Given the description of an element on the screen output the (x, y) to click on. 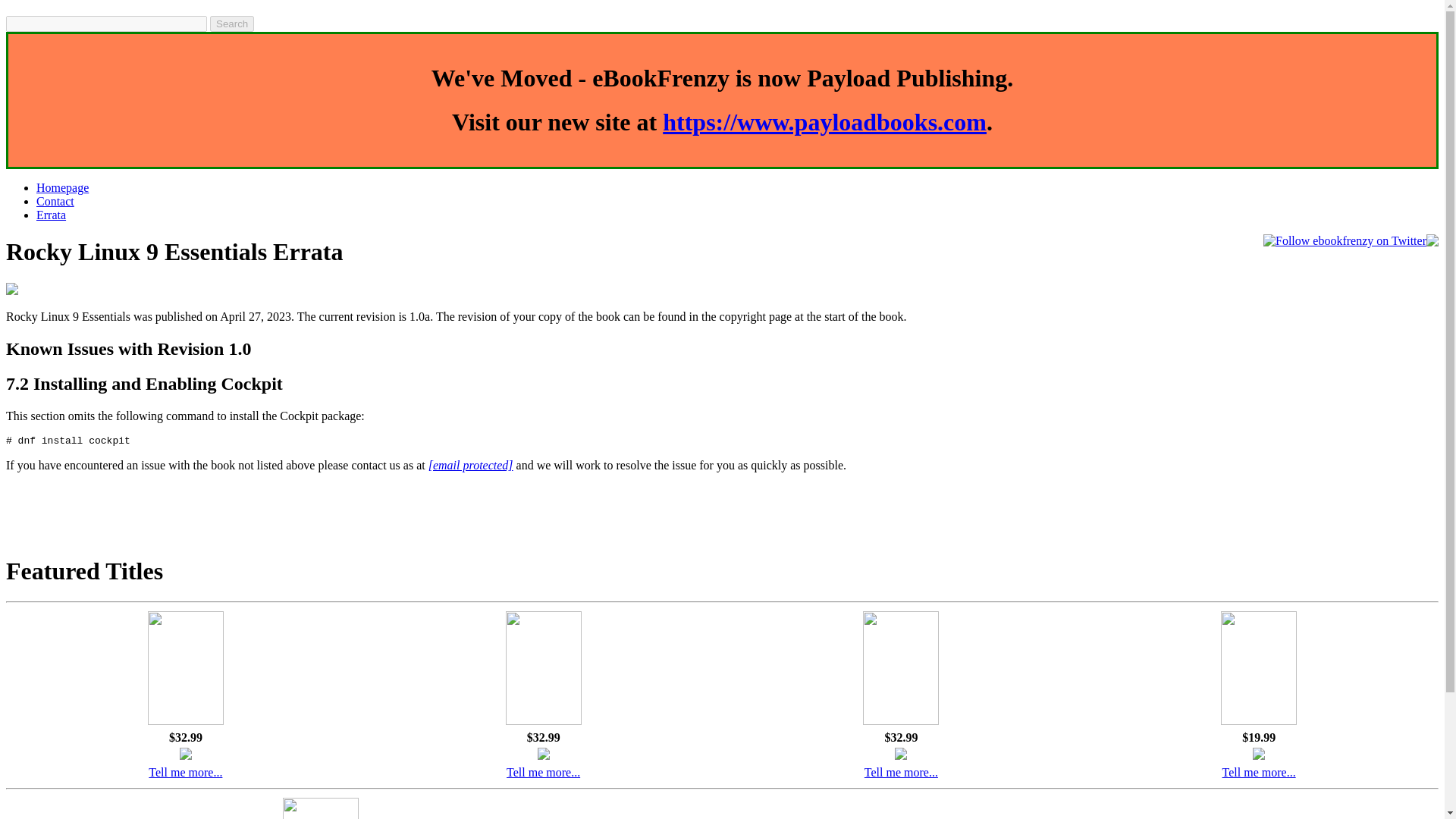
Tell me more... (900, 771)
Tell me more... (185, 771)
Search (231, 23)
Tell me more... (1259, 771)
Tell me more... (542, 771)
Homepage (62, 187)
Search (231, 23)
Errata (50, 214)
Contact (55, 201)
